Given the description of an element on the screen output the (x, y) to click on. 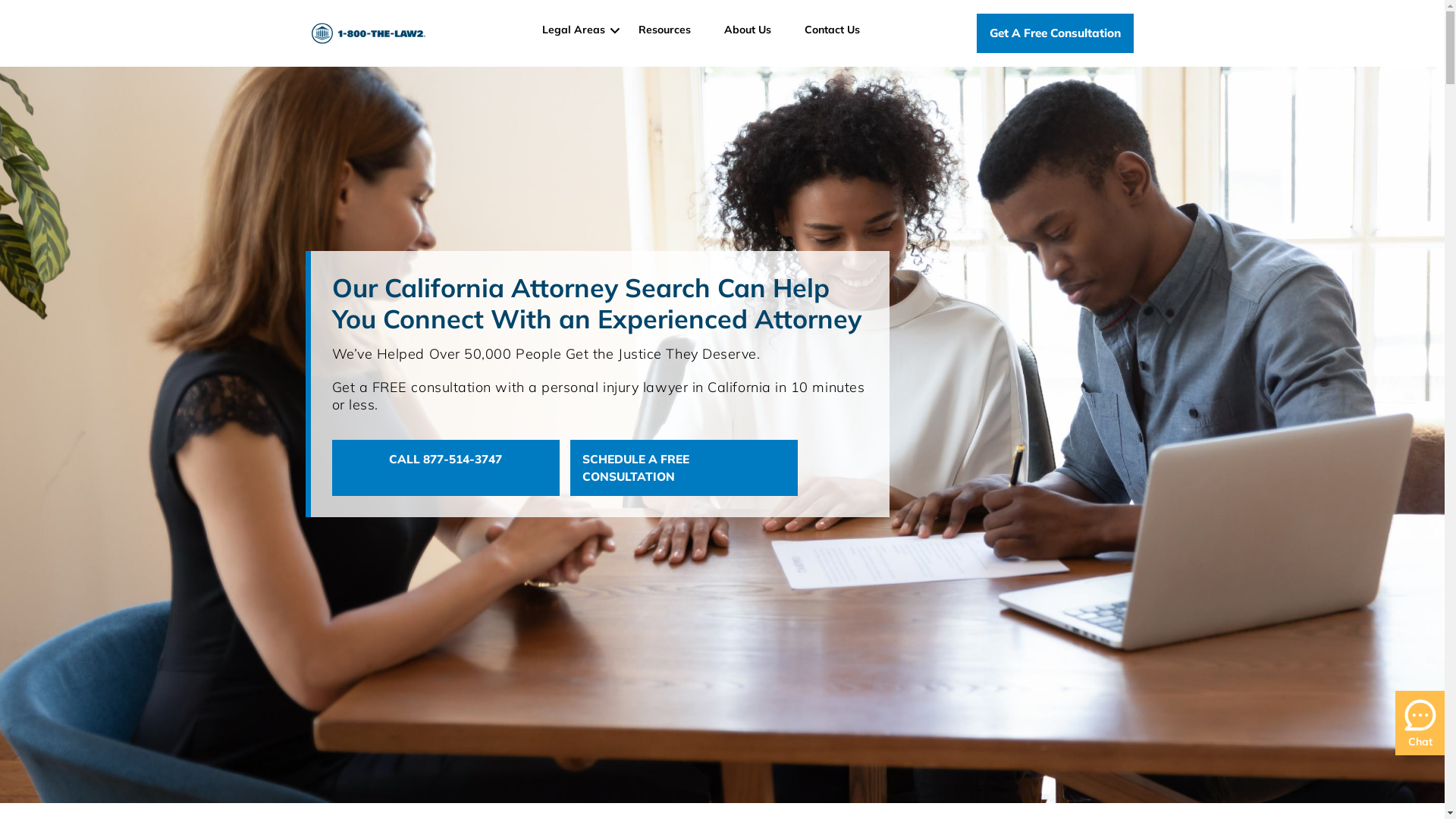
1-800-THE-LAW2 -  Element type: hover (367, 33)
CALL 877-514-3747 Element type: text (445, 467)
Get A Free Consultation Element type: text (1054, 32)
SCHEDULE A FREE CONSULTATION Element type: text (683, 467)
